Given the description of an element on the screen output the (x, y) to click on. 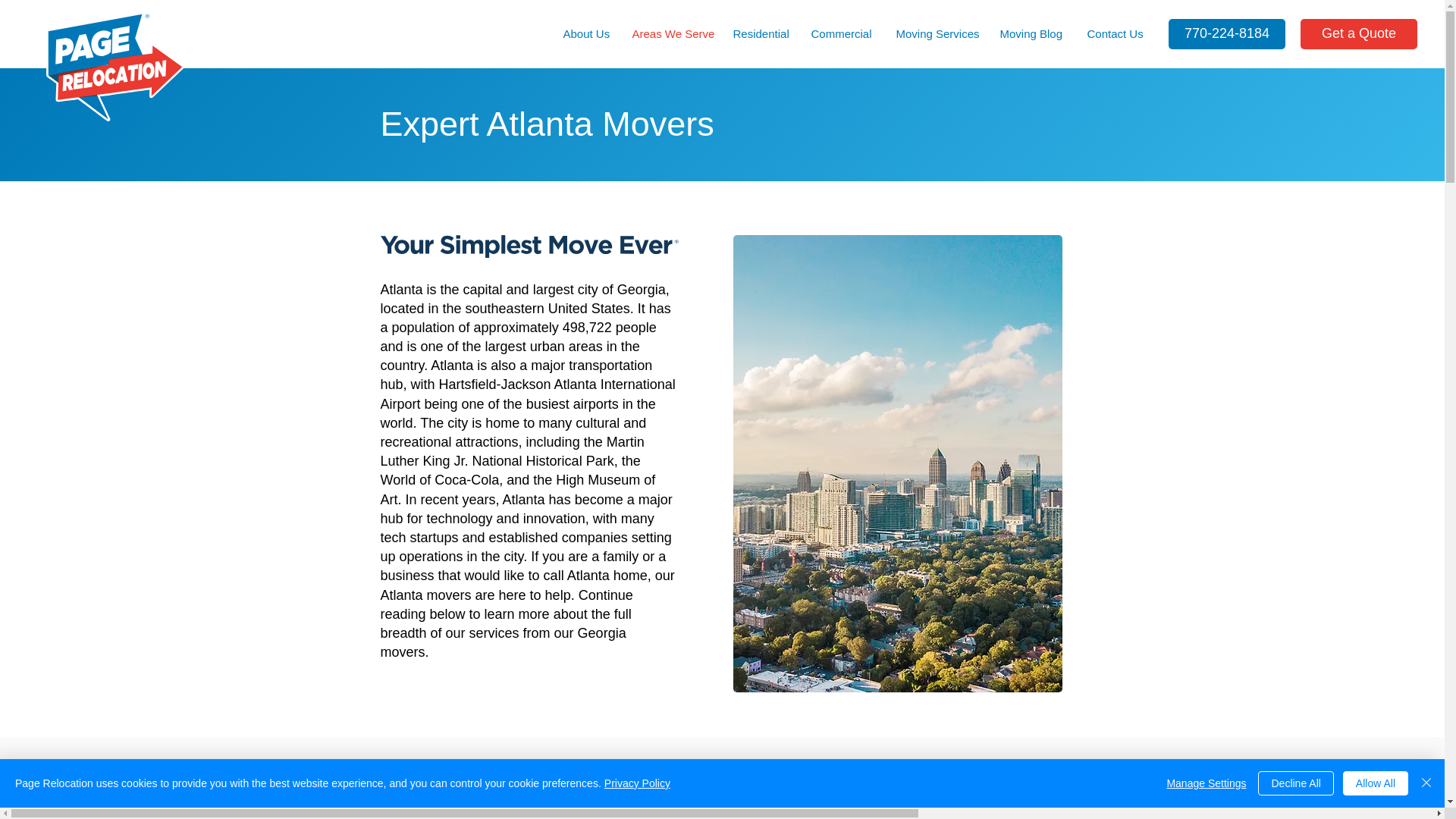
Residential (760, 34)
Moving Services (935, 34)
Commercial (841, 34)
Areas We Serve (670, 34)
About Us (586, 34)
